Given the description of an element on the screen output the (x, y) to click on. 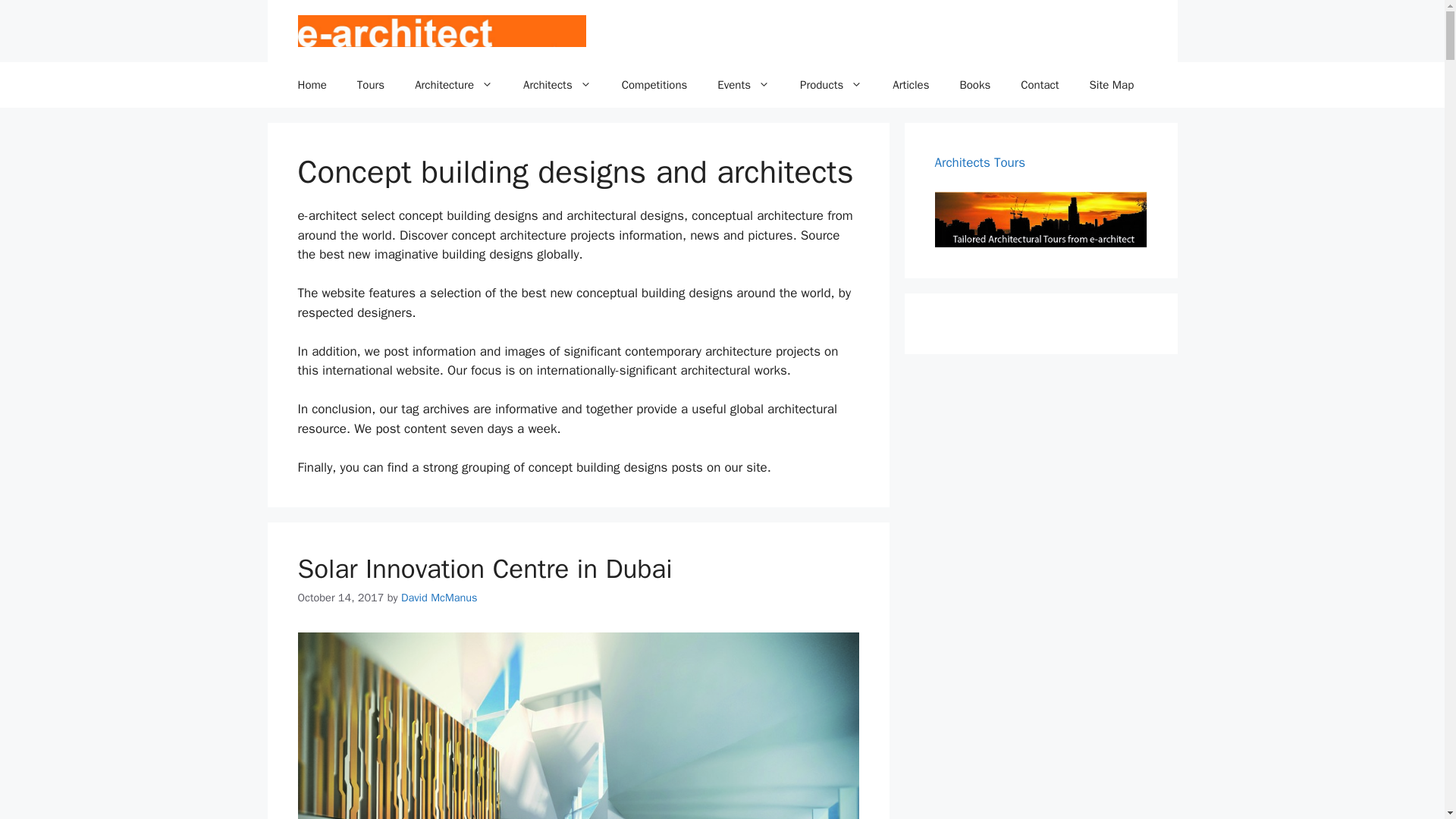
Books (974, 84)
David McManus (439, 597)
Architecture (453, 84)
Site Map (1112, 84)
View all posts by David McManus (439, 597)
Products (830, 84)
Articles (910, 84)
Solar Innovation Centre in Dubai (484, 568)
Home (311, 84)
Tours (370, 84)
Architects (557, 84)
Events (742, 84)
Contact (1040, 84)
Home (311, 84)
Competitions (655, 84)
